Given the description of an element on the screen output the (x, y) to click on. 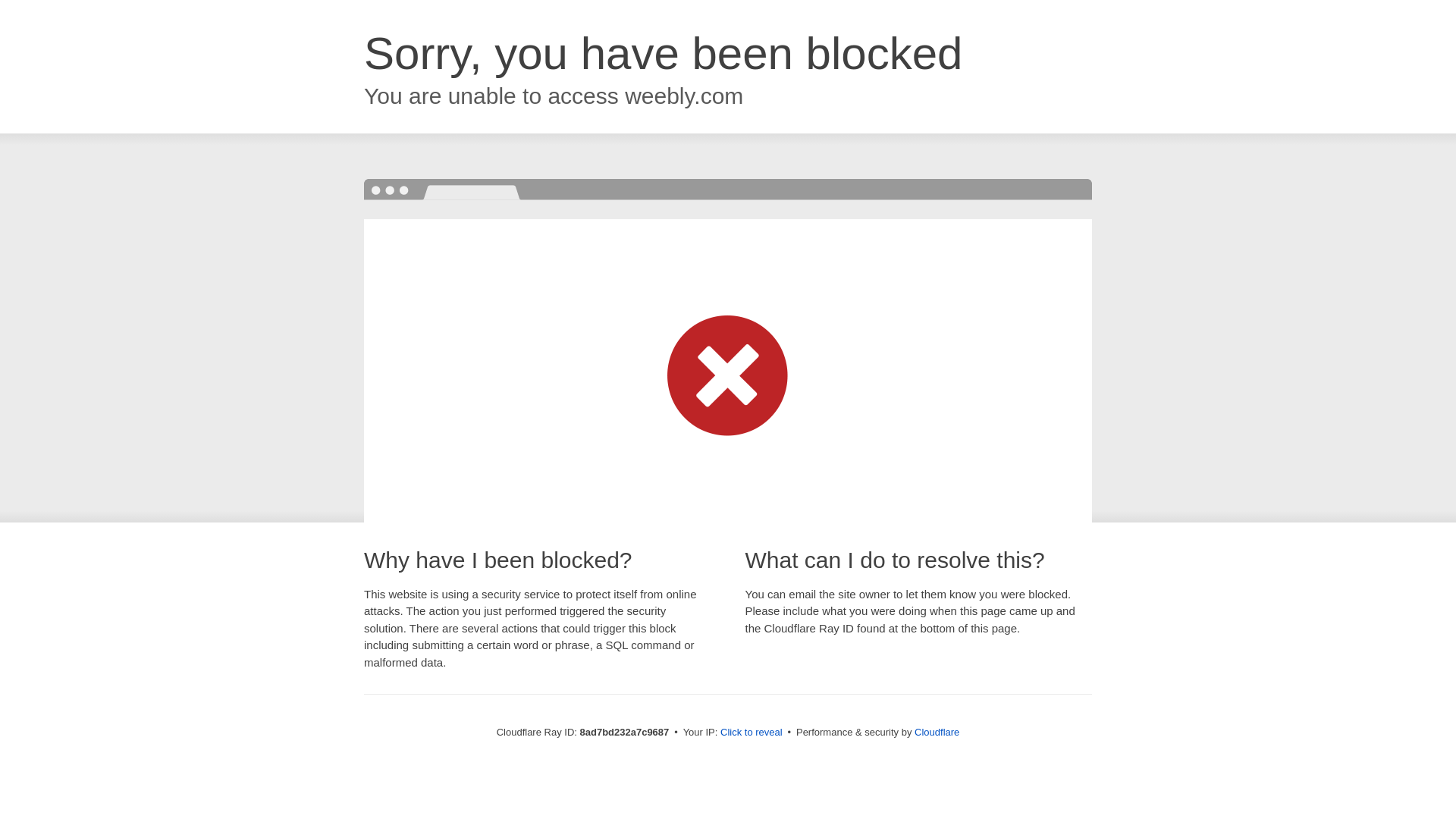
Click to reveal (751, 732)
Cloudflare (936, 731)
